Given the description of an element on the screen output the (x, y) to click on. 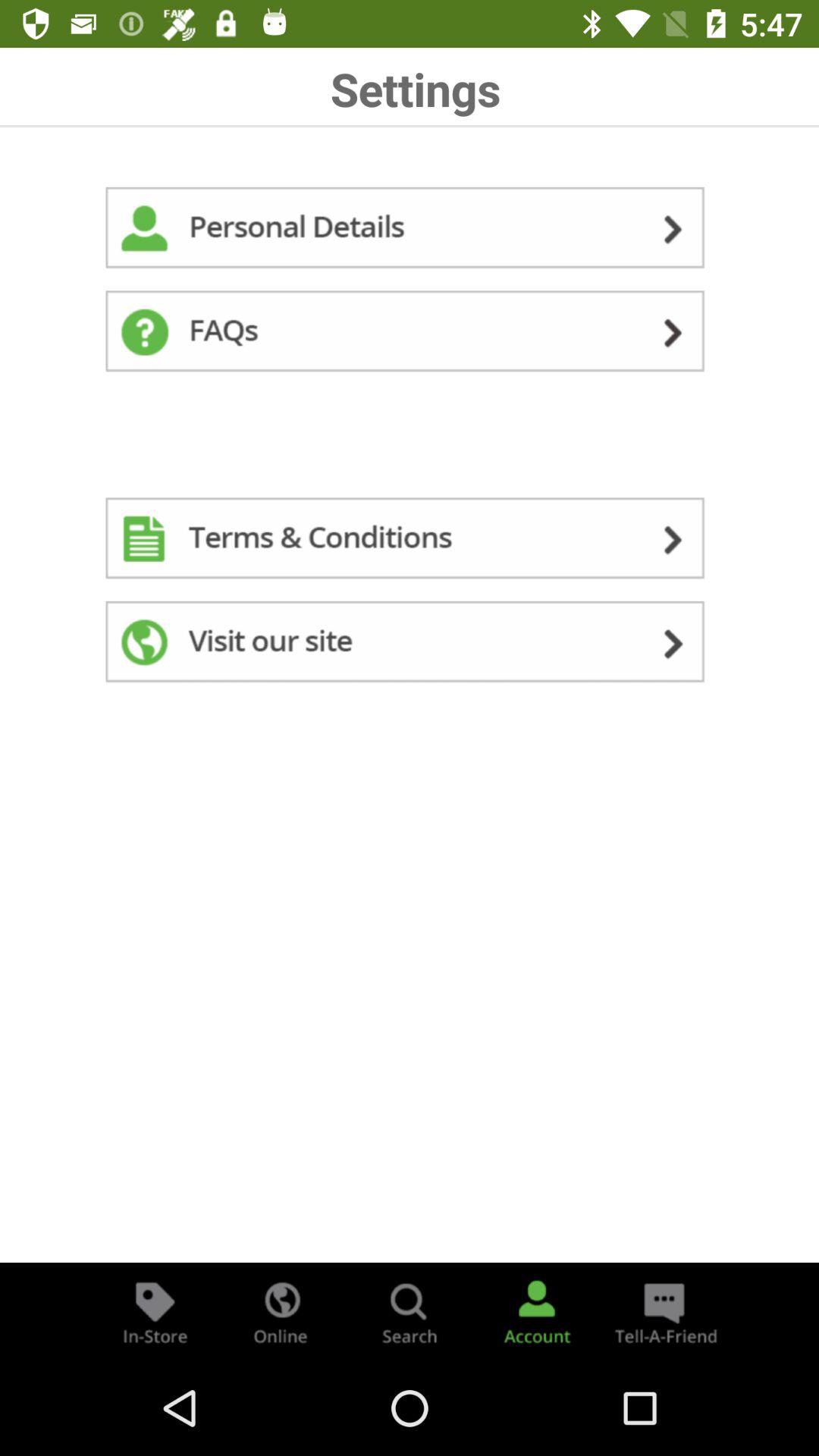
personal details (409, 230)
